Given the description of an element on the screen output the (x, y) to click on. 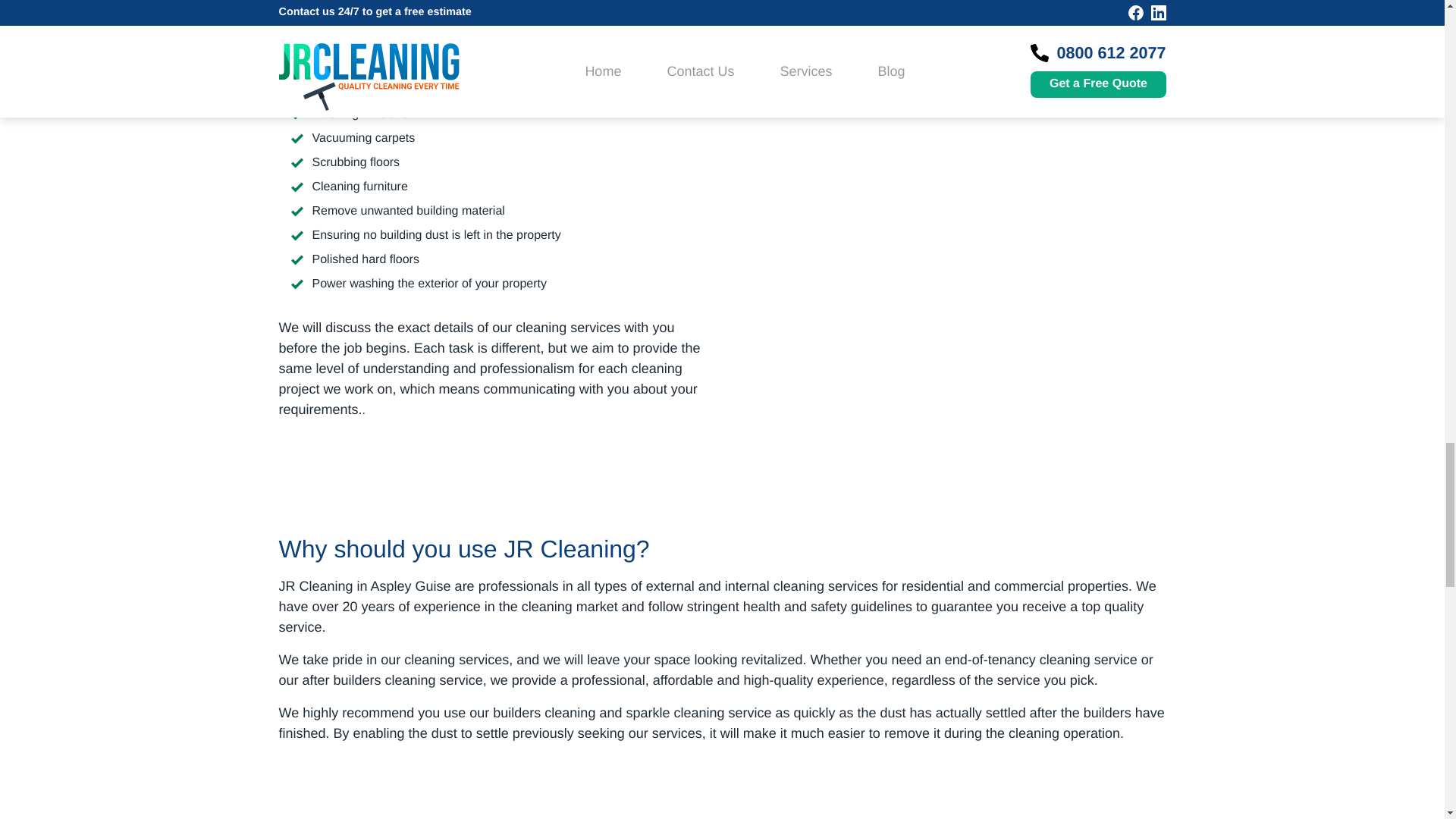
Carpet cleaning (949, 71)
